Given the description of an element on the screen output the (x, y) to click on. 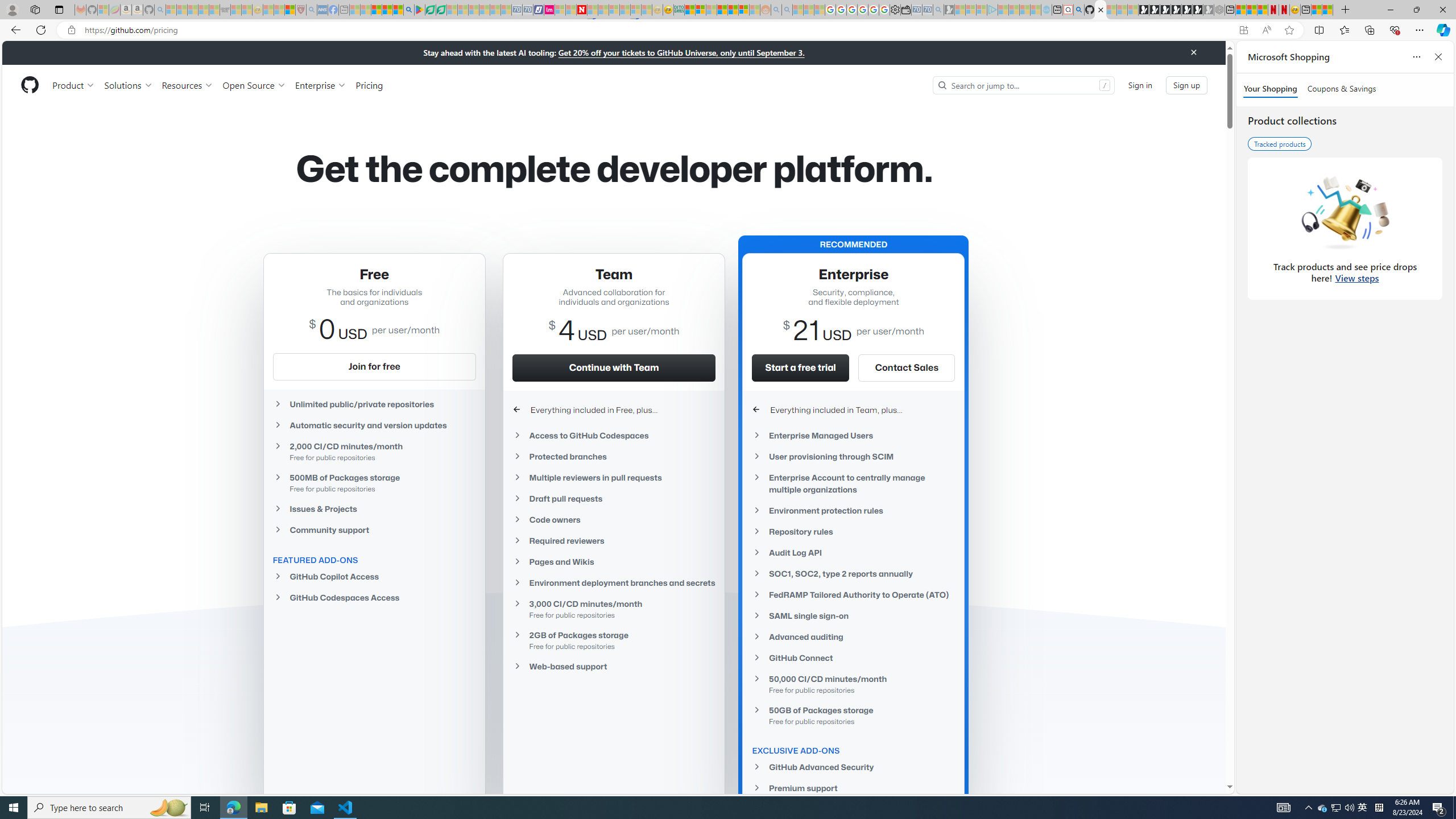
Repository rules (853, 531)
User provisioning through SCIM (853, 456)
2GB of Packages storageFree for public repositories (614, 640)
Web-based support (614, 666)
Multiple reviewers in pull requests (614, 477)
GitHub Copilot Access (374, 576)
Environment deployment branches and secrets (614, 582)
Code owners (614, 519)
Wildlife - MSN (1316, 9)
